Given the description of an element on the screen output the (x, y) to click on. 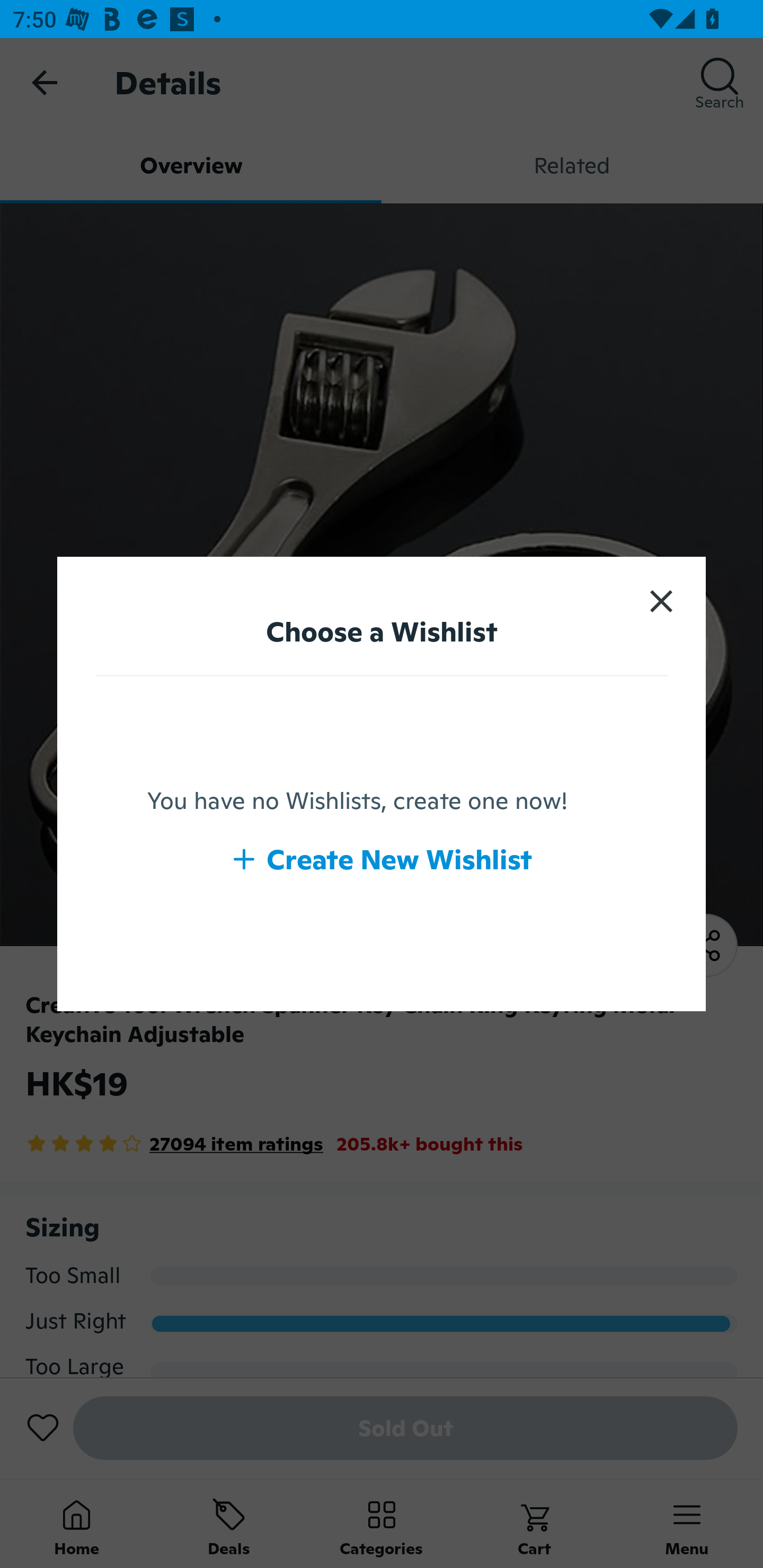
Create New Wishlist (381, 859)
